Given the description of an element on the screen output the (x, y) to click on. 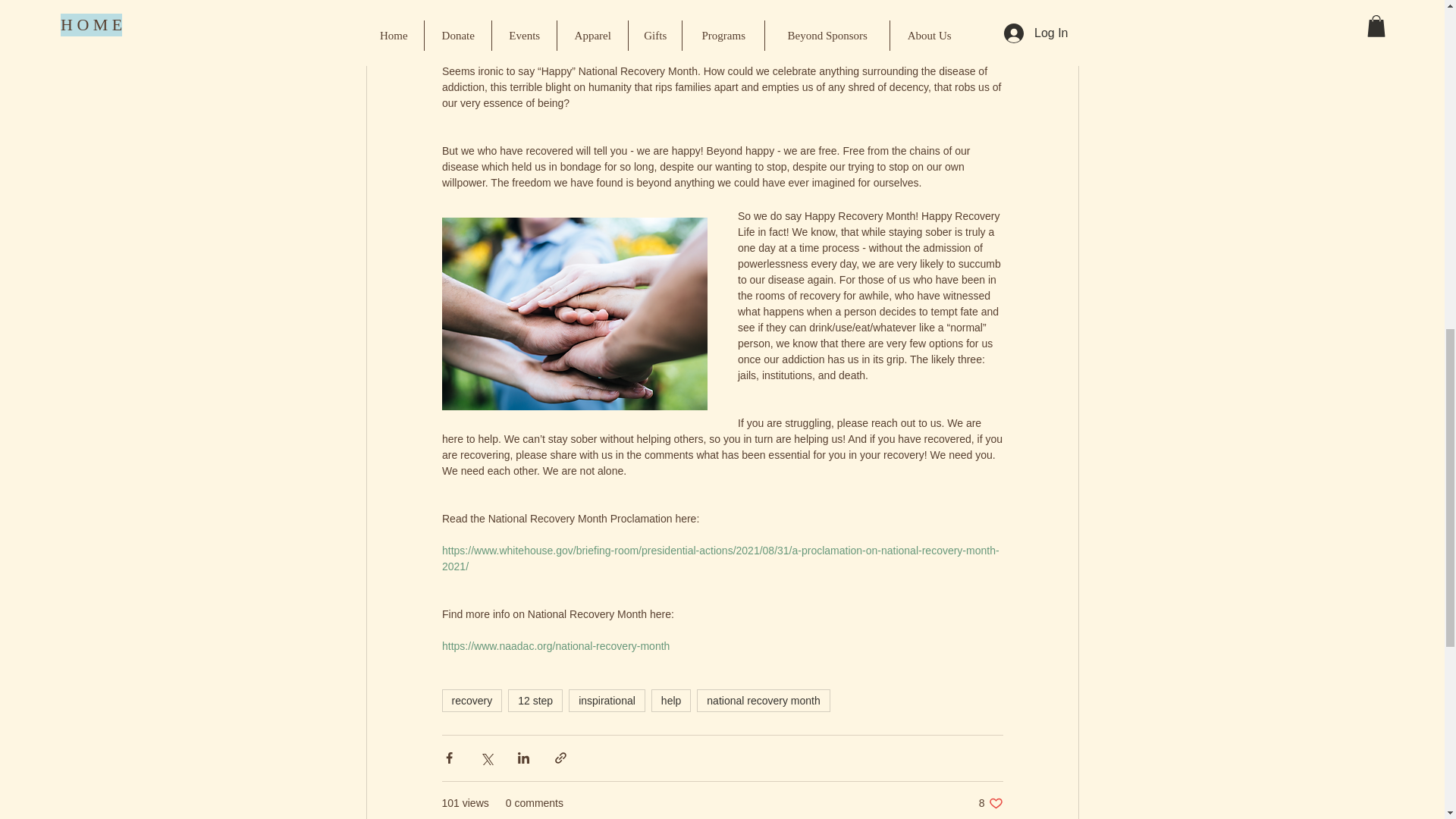
national recovery month (763, 700)
12 step (535, 700)
help (670, 700)
recovery (471, 700)
inspirational (607, 700)
